Given the description of an element on the screen output the (x, y) to click on. 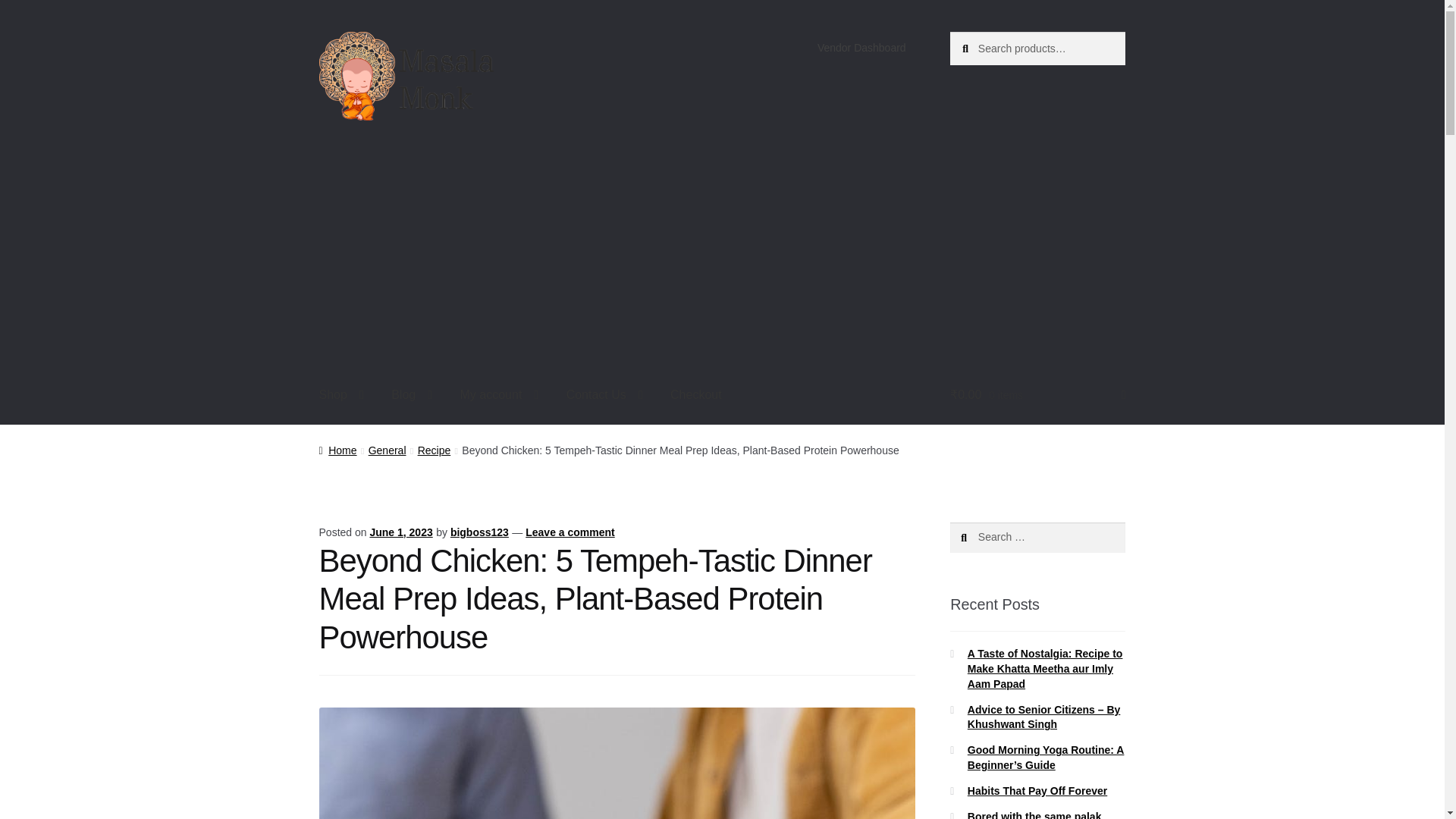
My account (499, 395)
View your shopping cart (1037, 395)
Vendor Dashboard (861, 47)
Shop (341, 395)
Blog (411, 395)
Contact Us (604, 395)
Checkout (695, 395)
